Given the description of an element on the screen output the (x, y) to click on. 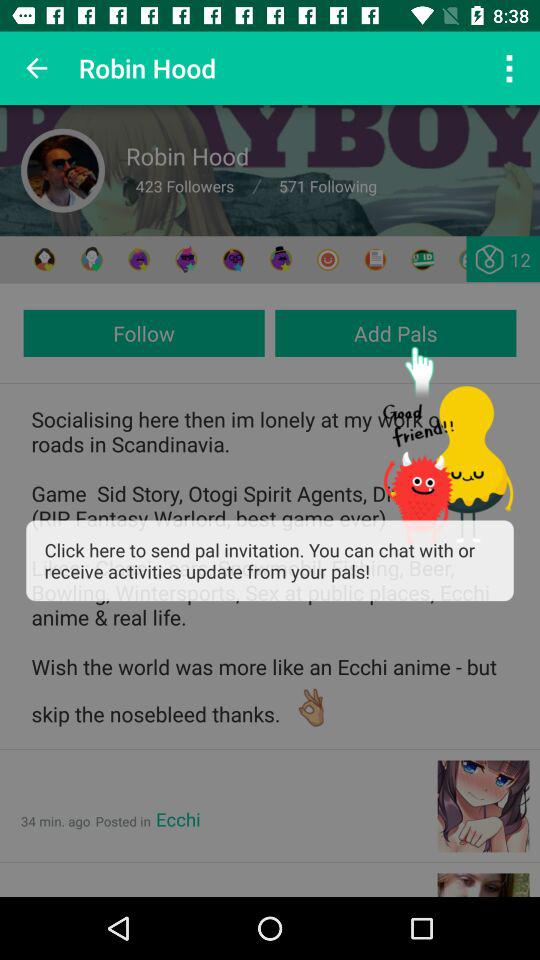
anime (280, 259)
